Given the description of an element on the screen output the (x, y) to click on. 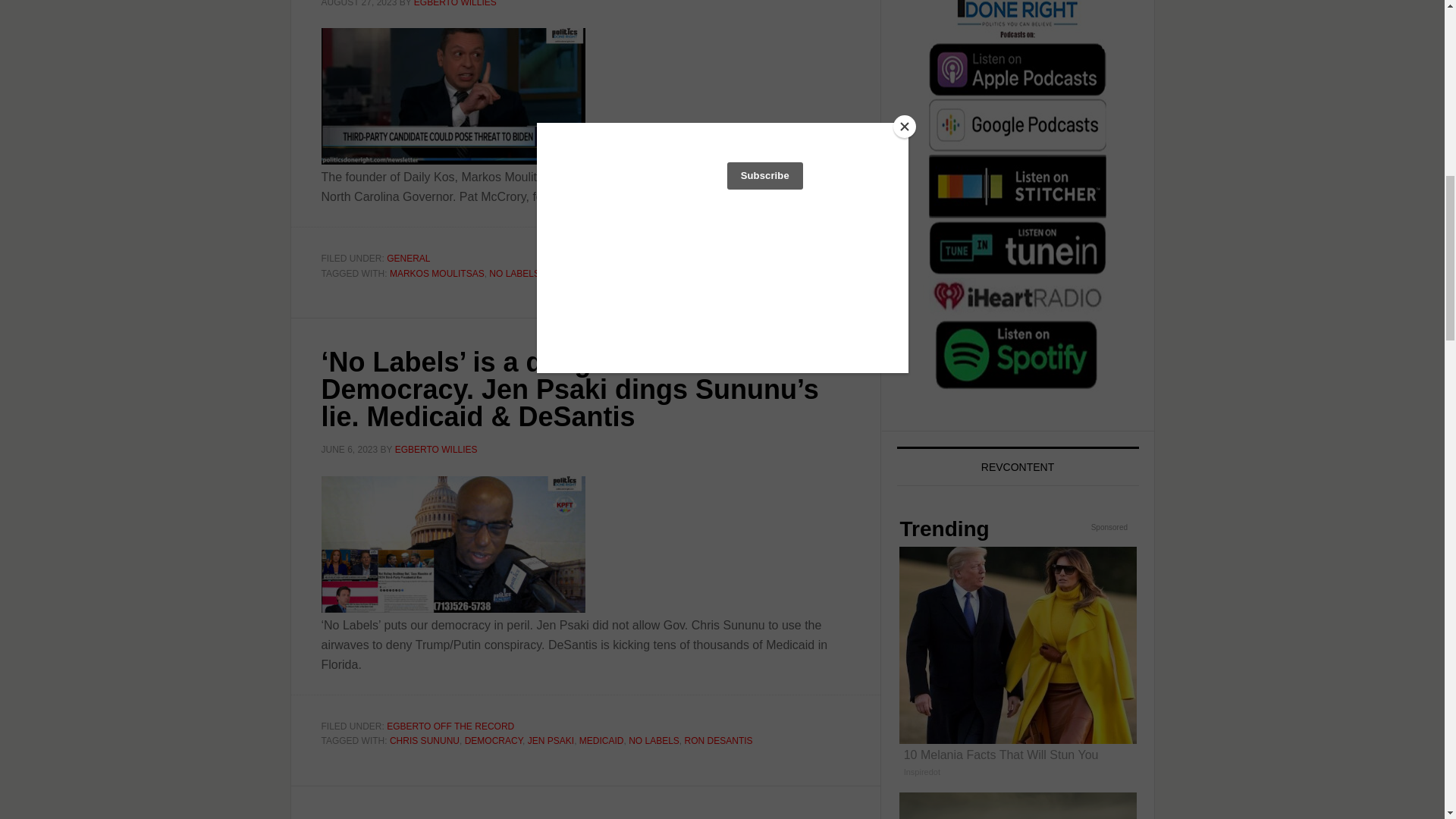
10 Melania Facts That Will Stun You (1018, 667)
Pure Romance Awaits: Must-visit Honeymoon Spots in Australia (1018, 805)
